Given the description of an element on the screen output the (x, y) to click on. 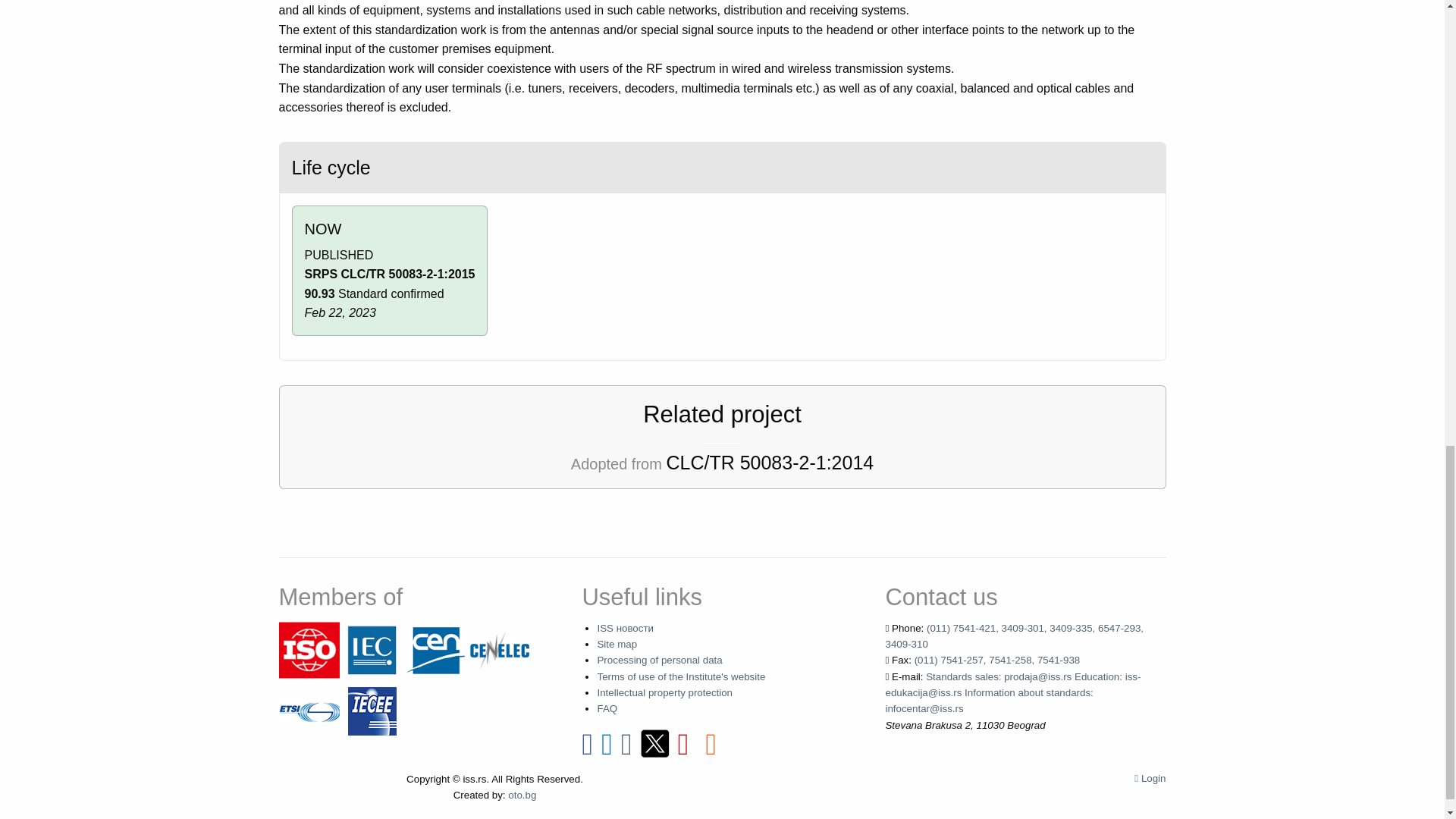
ISO (309, 649)
CEN (435, 649)
ETSI (309, 709)
IECEE (372, 709)
CENELEC (498, 649)
IEC (372, 649)
